Given the description of an element on the screen output the (x, y) to click on. 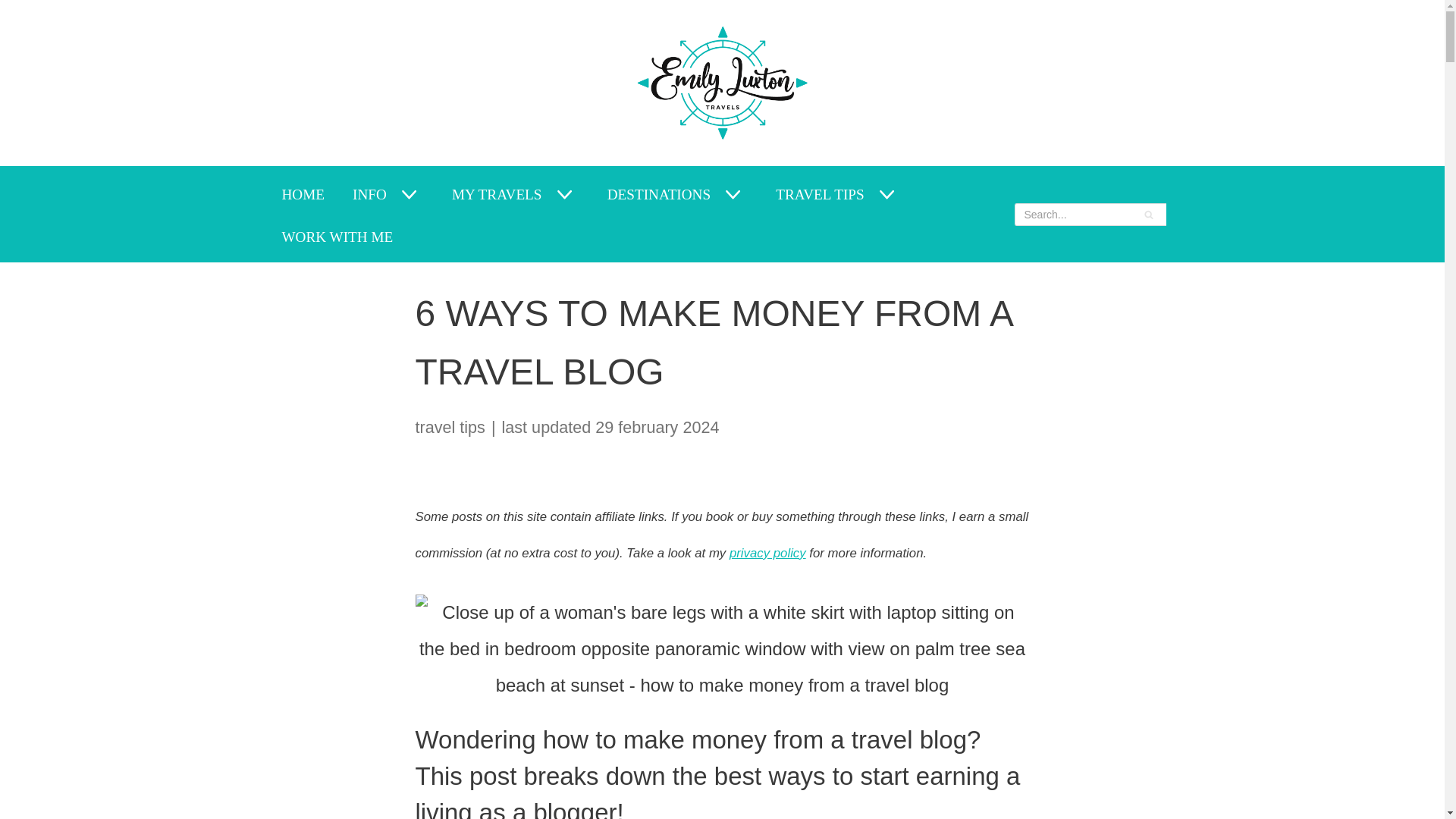
INFO (369, 194)
DESTINATIONS (658, 194)
Skip to content (15, 31)
WORK WITH ME (337, 237)
TRAVEL TIPS (819, 194)
MY TRAVELS (496, 194)
HOME (303, 194)
